Given the description of an element on the screen output the (x, y) to click on. 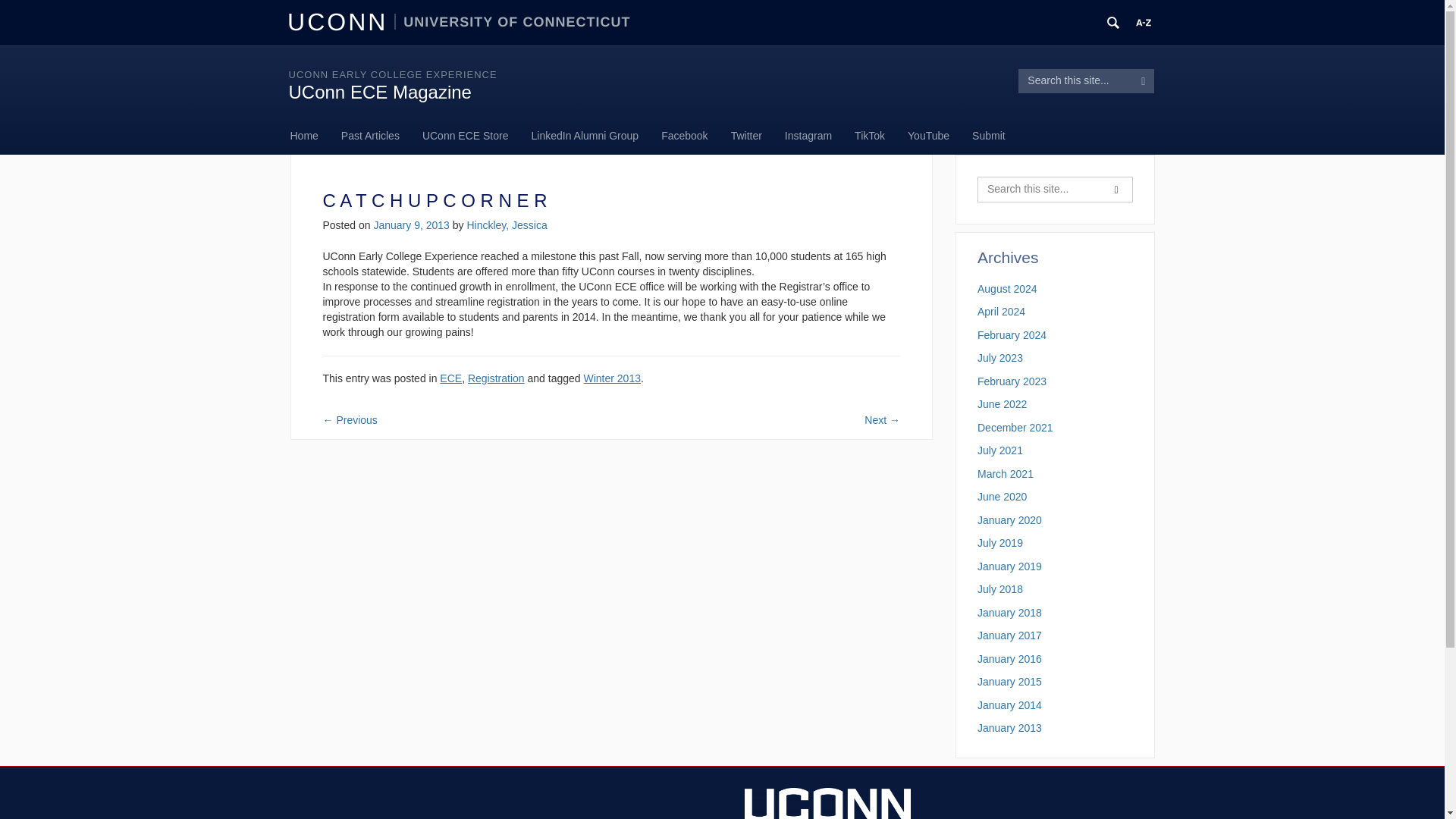
Search this site...  (1039, 189)
February 2024 (1011, 335)
Facebook (684, 135)
Past Articles (370, 135)
UConn A to Z Index (1143, 22)
UConn ECE Store (464, 135)
Search this site...  (1074, 80)
UCONN EARLY COLLEGE EXPERIENCE (392, 74)
UNIVERSITY OF CONNECTICUT (512, 21)
LinkedIn Alumni Group (584, 135)
